Given the description of an element on the screen output the (x, y) to click on. 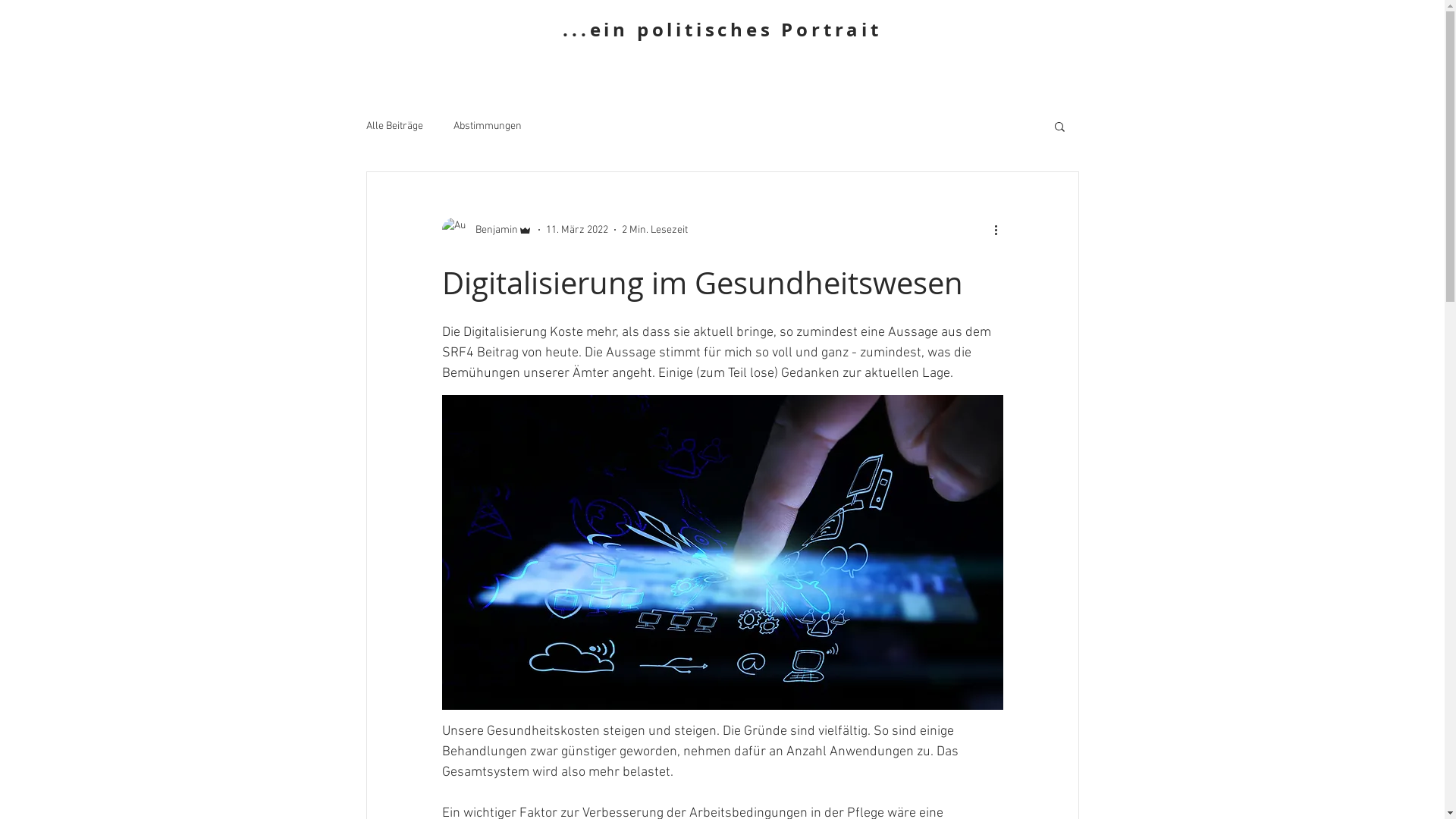
...ein politisches Portrait Element type: text (721, 29)
Abstimmungen Element type: text (487, 125)
